Given the description of an element on the screen output the (x, y) to click on. 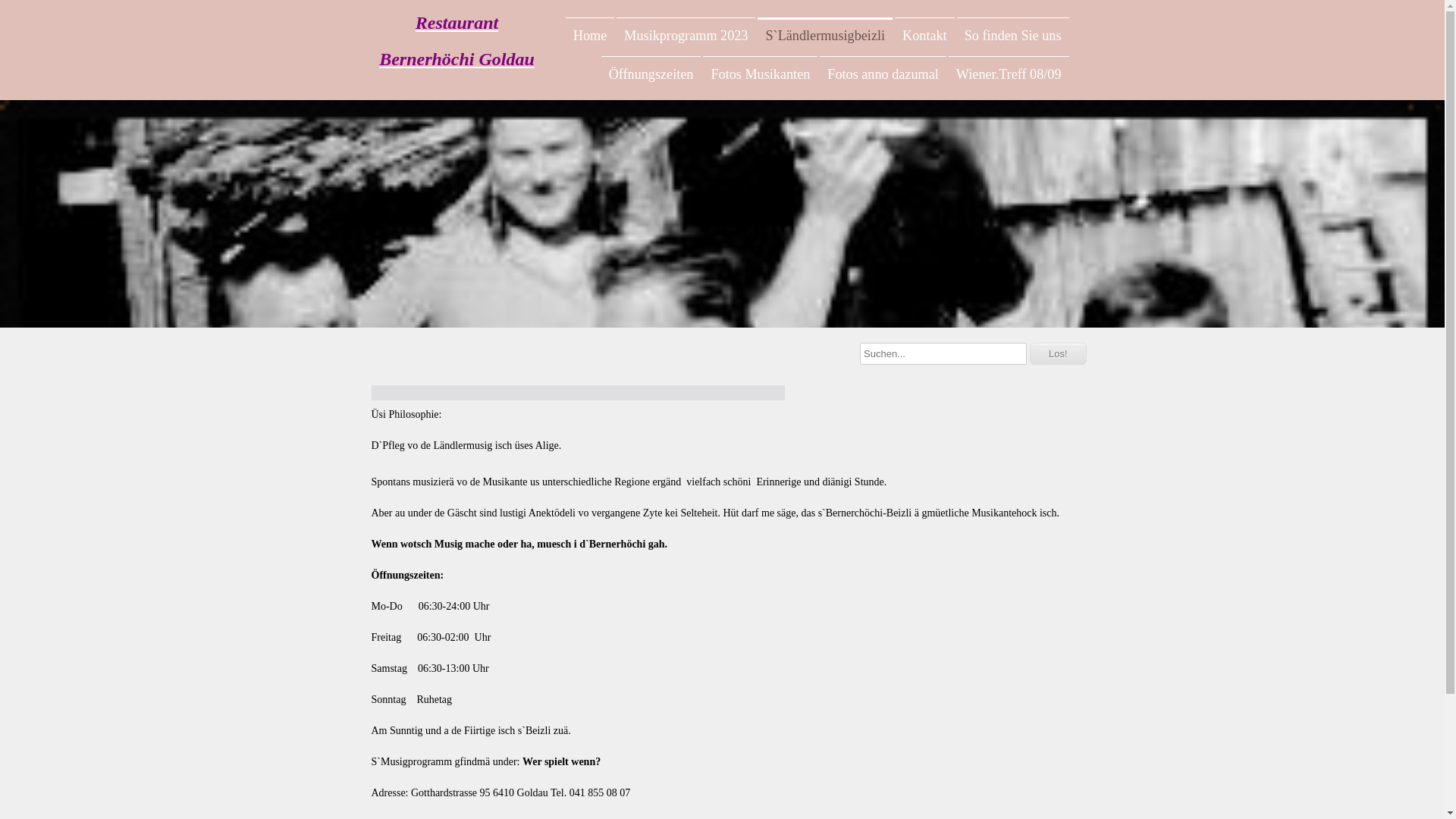
Fotos anno dazumal Element type: text (882, 73)
Wiener.Treff 08/09 Element type: text (1008, 73)
Home Element type: text (589, 35)
So finden Sie uns Element type: text (1013, 35)
Fotos Musikanten Element type: text (759, 73)
Musikprogramm 2023 Element type: text (685, 35)
Kontakt Element type: text (924, 35)
Los! Element type: text (1057, 353)
